Given the description of an element on the screen output the (x, y) to click on. 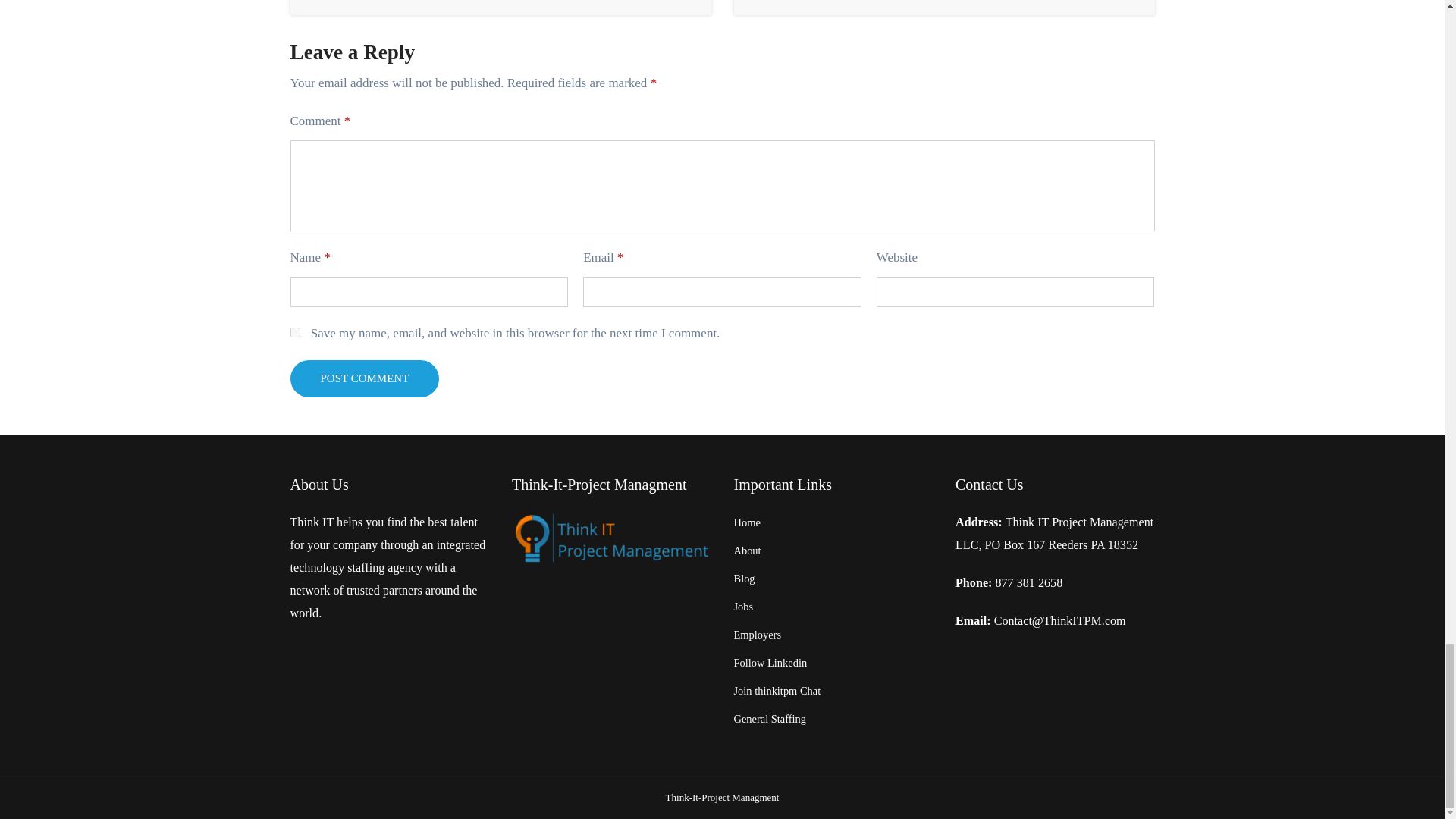
Home (746, 522)
Blog (744, 578)
Jobs (743, 606)
About (747, 550)
Employers (757, 634)
yes (294, 332)
Follow Linkedin (770, 662)
POST COMMENT (364, 378)
